Given the description of an element on the screen output the (x, y) to click on. 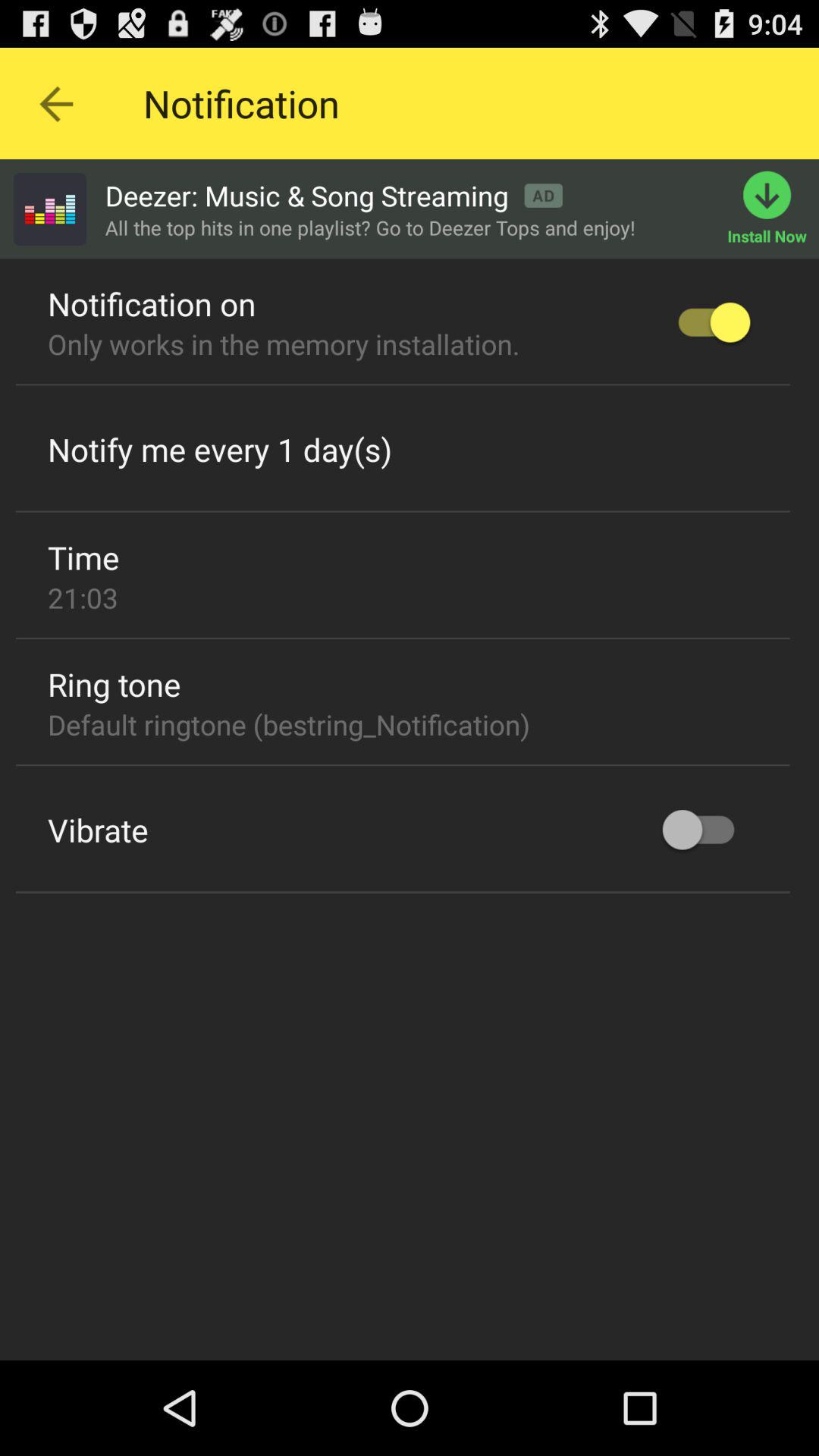
turn off icon above the notification on (49, 208)
